Given the description of an element on the screen output the (x, y) to click on. 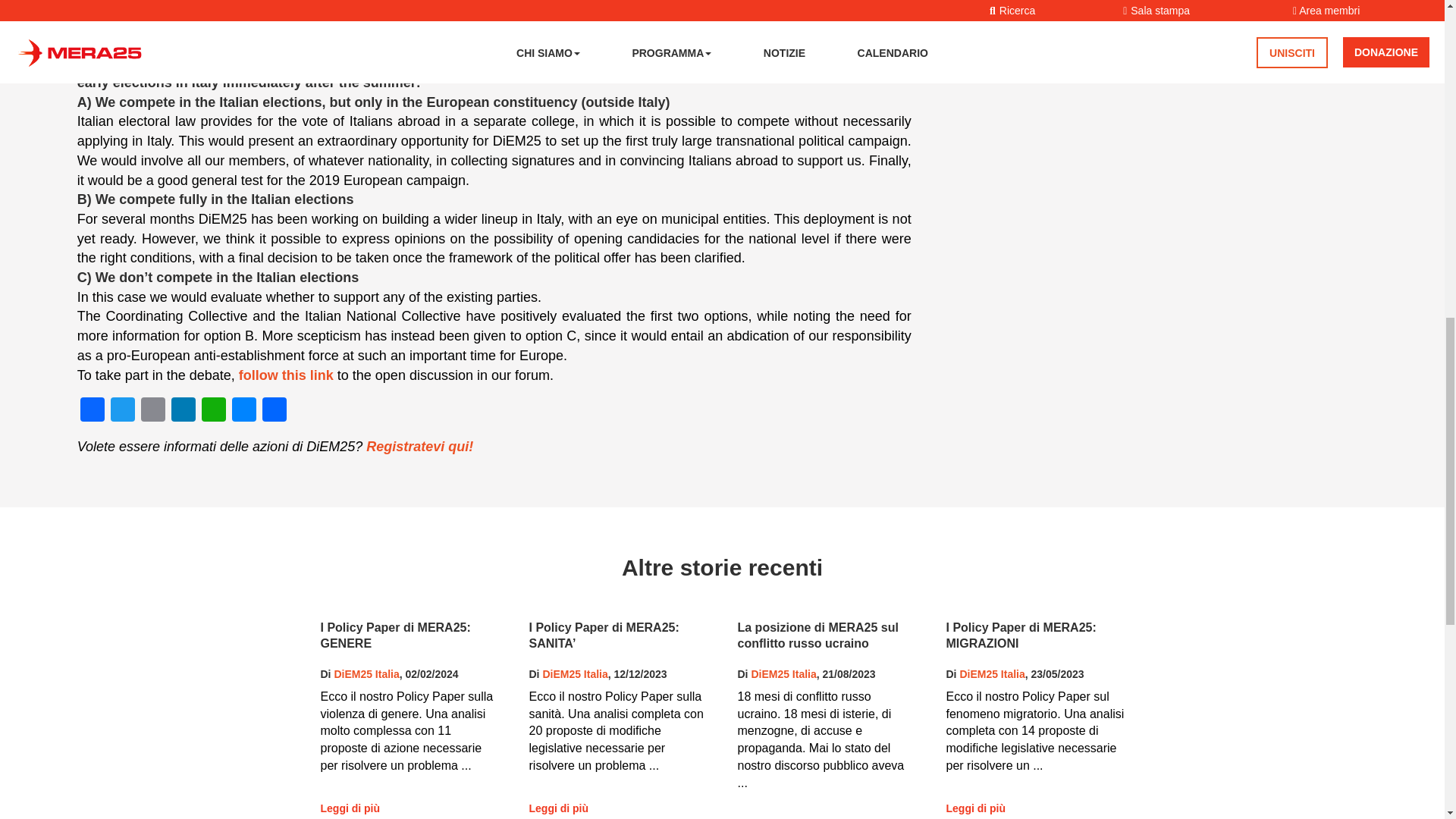
WhatsApp (213, 411)
WhatsApp (213, 411)
Email (153, 411)
Email (153, 411)
Messenger (243, 411)
Facebook (92, 411)
Facebook (92, 411)
Twitter (122, 411)
Posts by DiEM25 Italia (365, 674)
Posts by DiEM25 Italia (992, 674)
Share (274, 411)
Registratevi qui! (419, 446)
follow this link (285, 375)
LinkedIn (183, 411)
LinkedIn (183, 411)
